Given the description of an element on the screen output the (x, y) to click on. 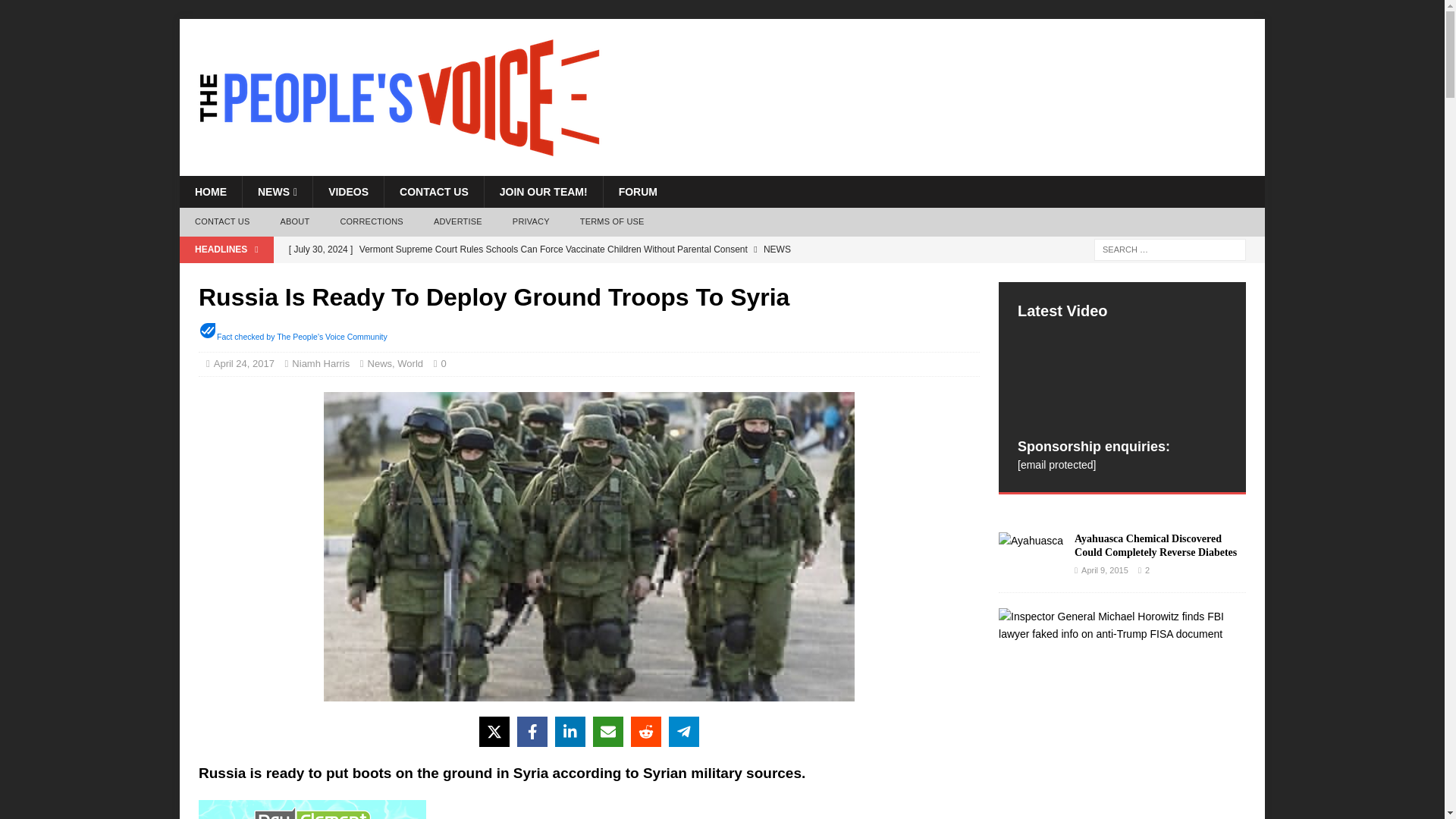
News (380, 363)
TERMS OF USE (611, 222)
FORUM (637, 192)
World (410, 363)
Search (56, 11)
CORRECTIONS (370, 222)
ABOUT (294, 222)
NEWS (277, 192)
JOIN OUR TEAM! (542, 192)
CONTACT US (433, 192)
VIDEOS (348, 192)
April 24, 2017 (244, 363)
Fact checked by The People's Voice Community (301, 336)
Niamh Harris (320, 363)
